Given the description of an element on the screen output the (x, y) to click on. 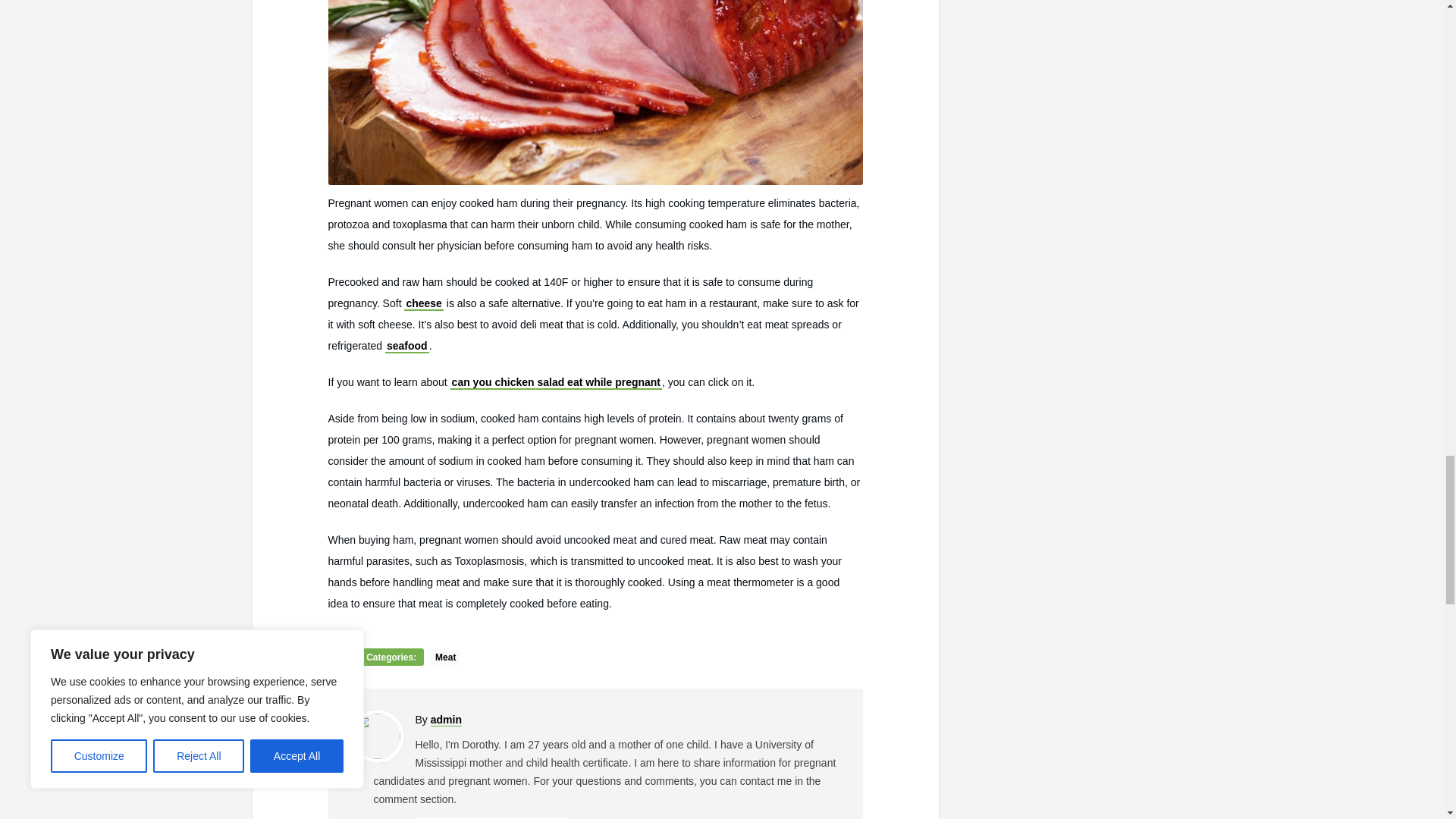
cheese (423, 304)
Seafood (407, 345)
Posts by admin (445, 719)
